Given the description of an element on the screen output the (x, y) to click on. 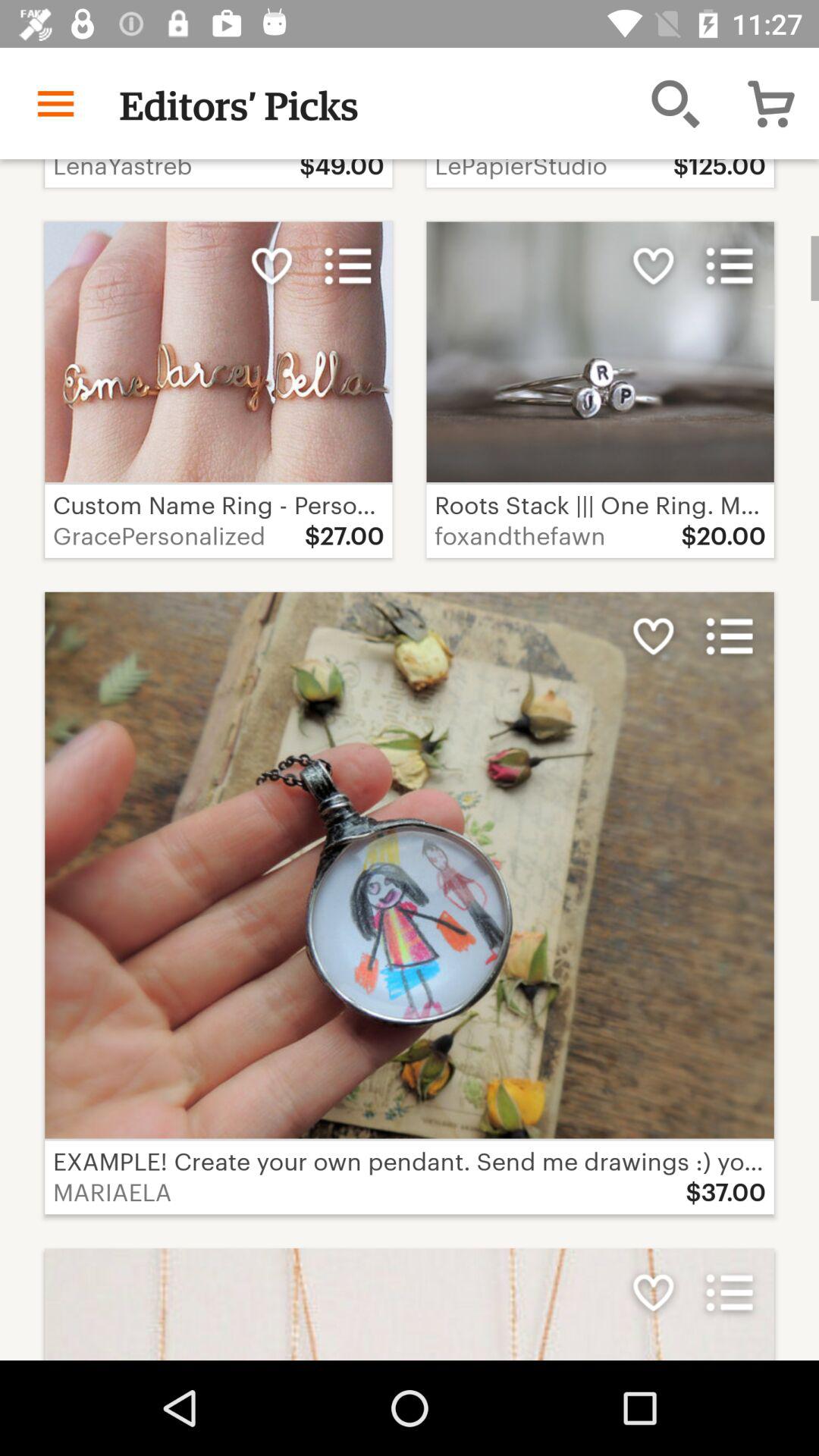
open the item above lenayastreb (55, 103)
